Given the description of an element on the screen output the (x, y) to click on. 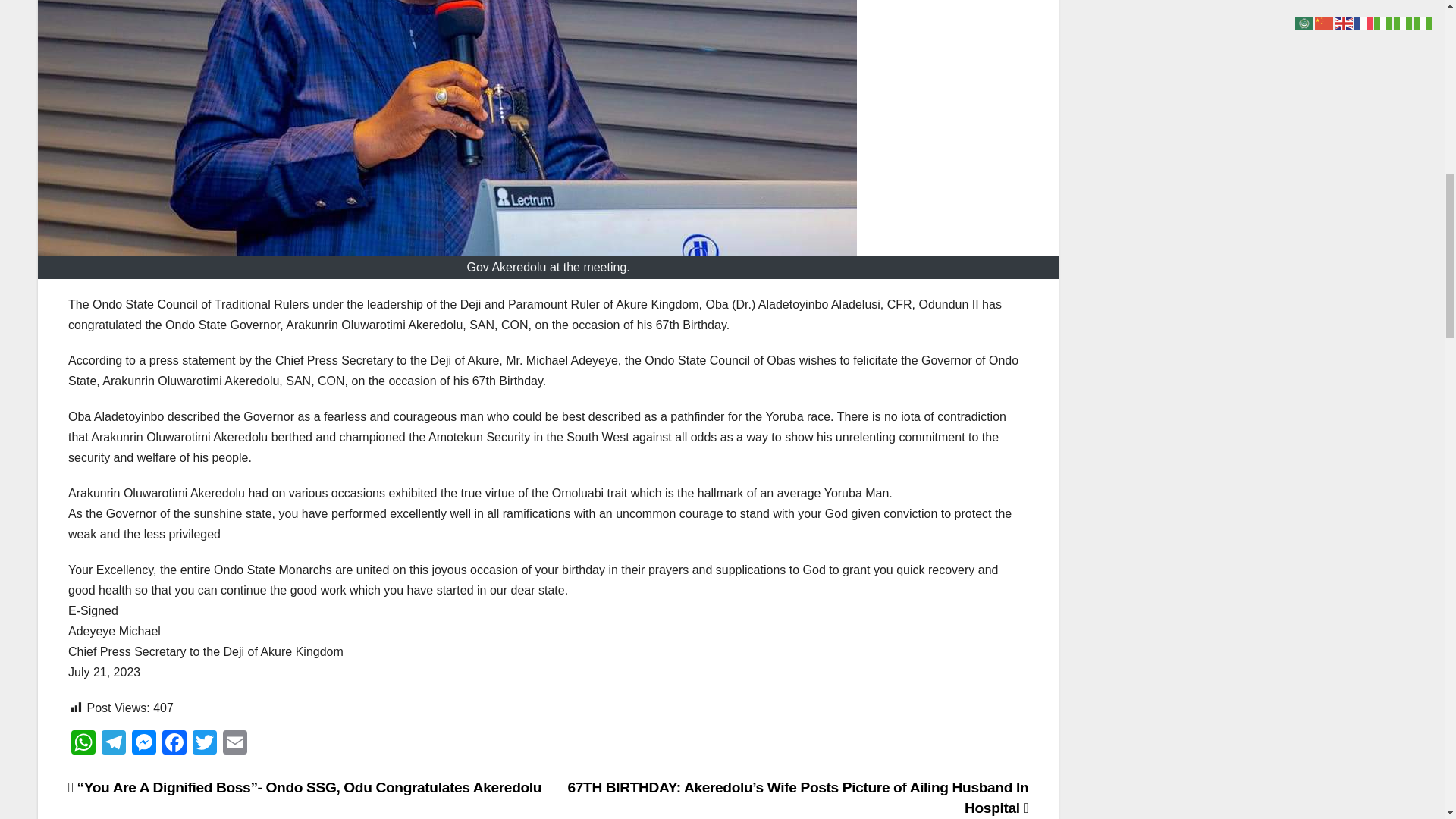
Messenger (143, 744)
Email (234, 744)
Twitter (204, 744)
Telegram (114, 744)
WhatsApp (83, 744)
Facebook (173, 744)
